Given the description of an element on the screen output the (x, y) to click on. 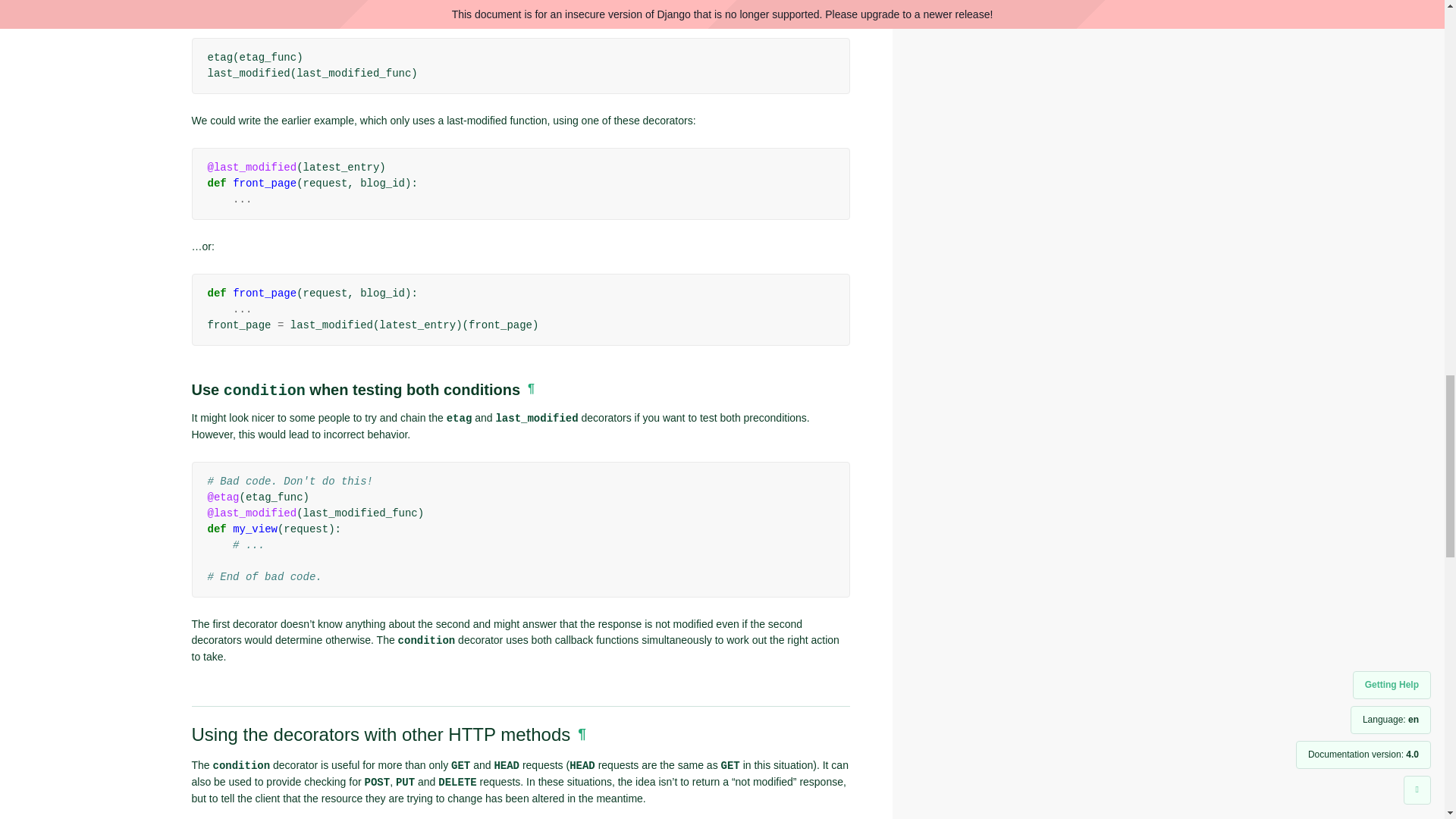
Permalink to this headline (582, 733)
Permalink to this headline (530, 388)
